Given the description of an element on the screen output the (x, y) to click on. 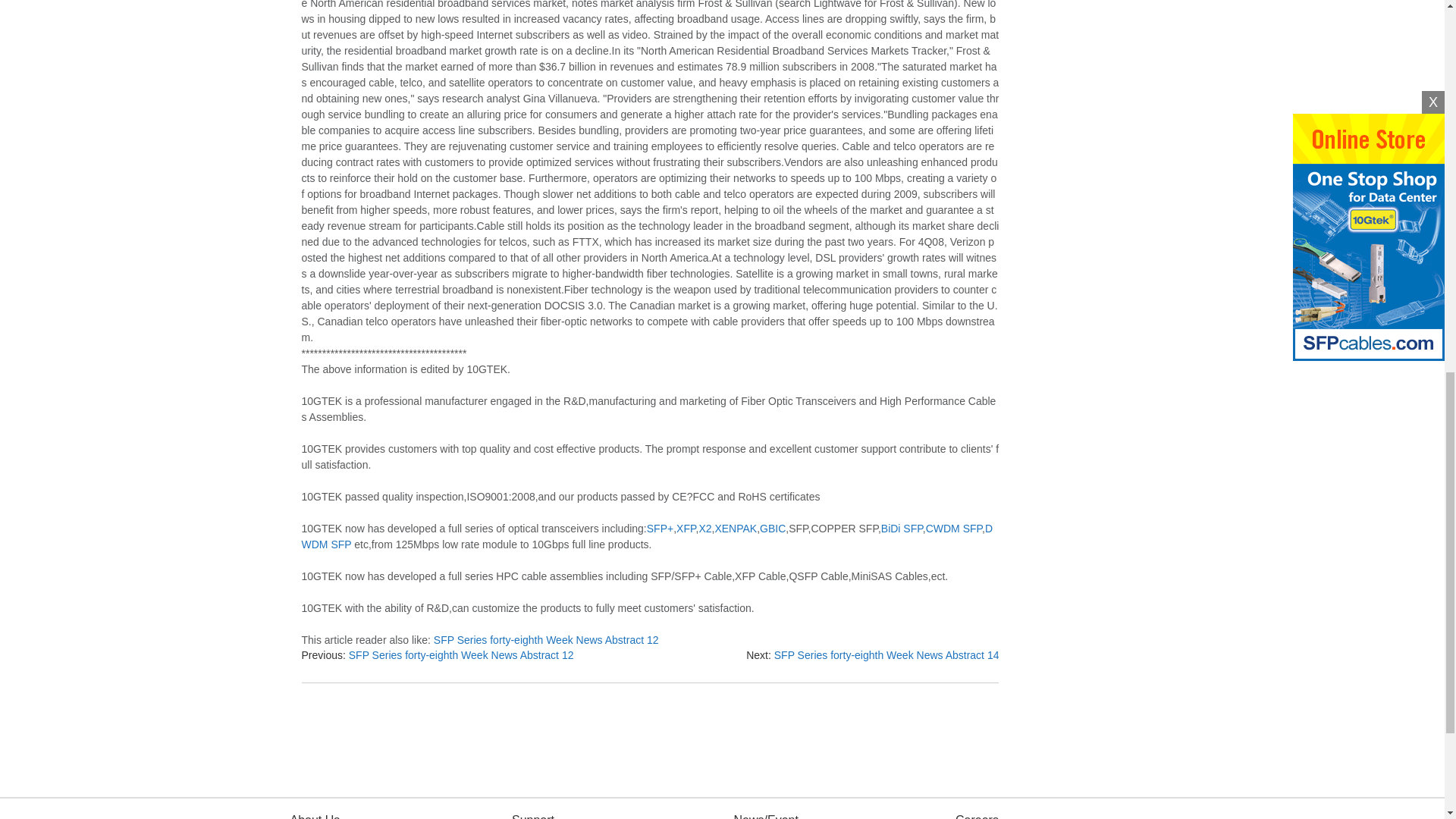
XENPAK (735, 528)
GBIC (773, 528)
BiDi SFP (901, 528)
XFP (686, 528)
X2 (704, 528)
